Given the description of an element on the screen output the (x, y) to click on. 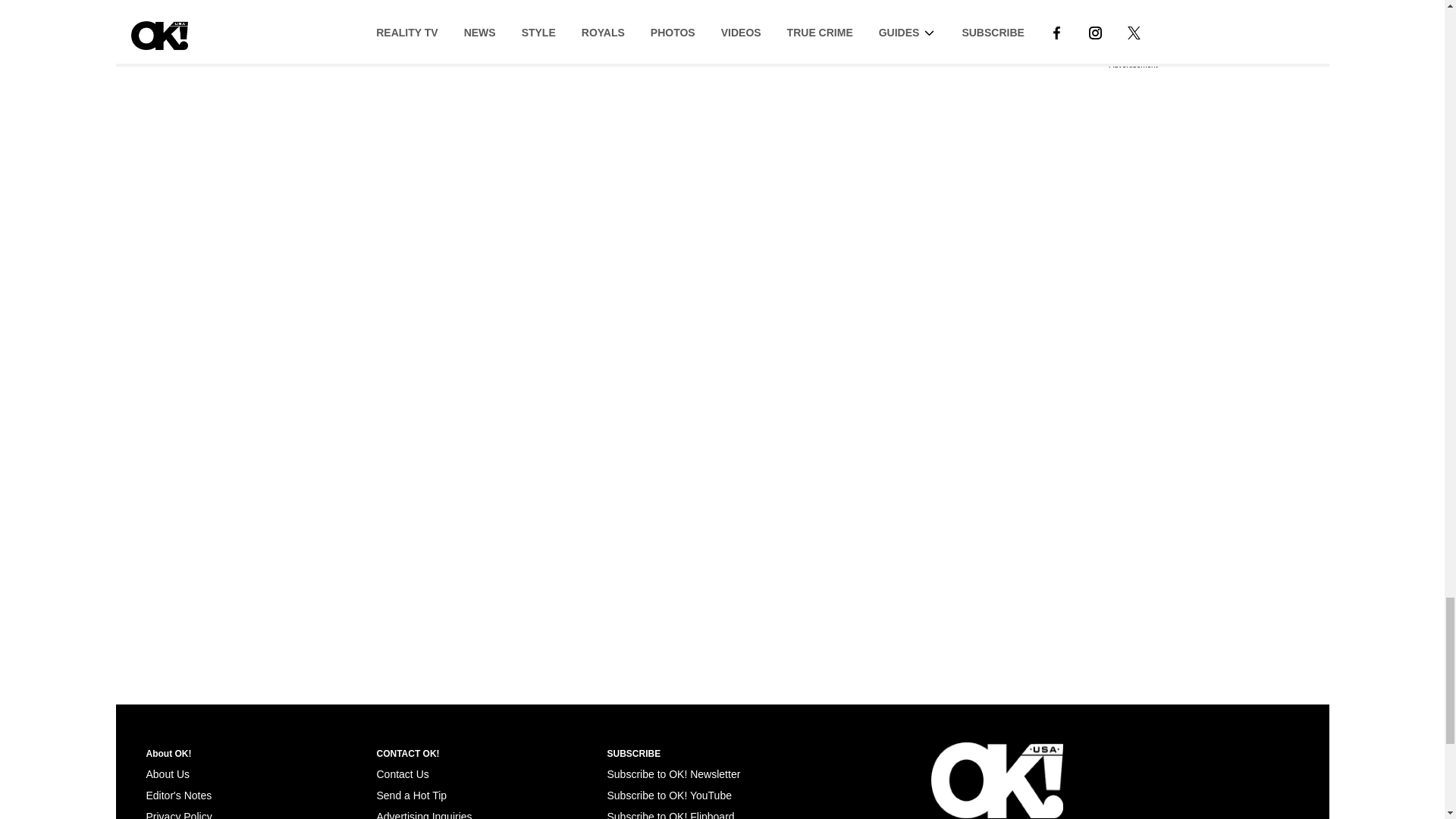
Send a Hot Tip (410, 795)
Editor's Notes (178, 795)
About Us (167, 774)
Privacy Policy (178, 814)
Contact Us (401, 774)
